Given the description of an element on the screen output the (x, y) to click on. 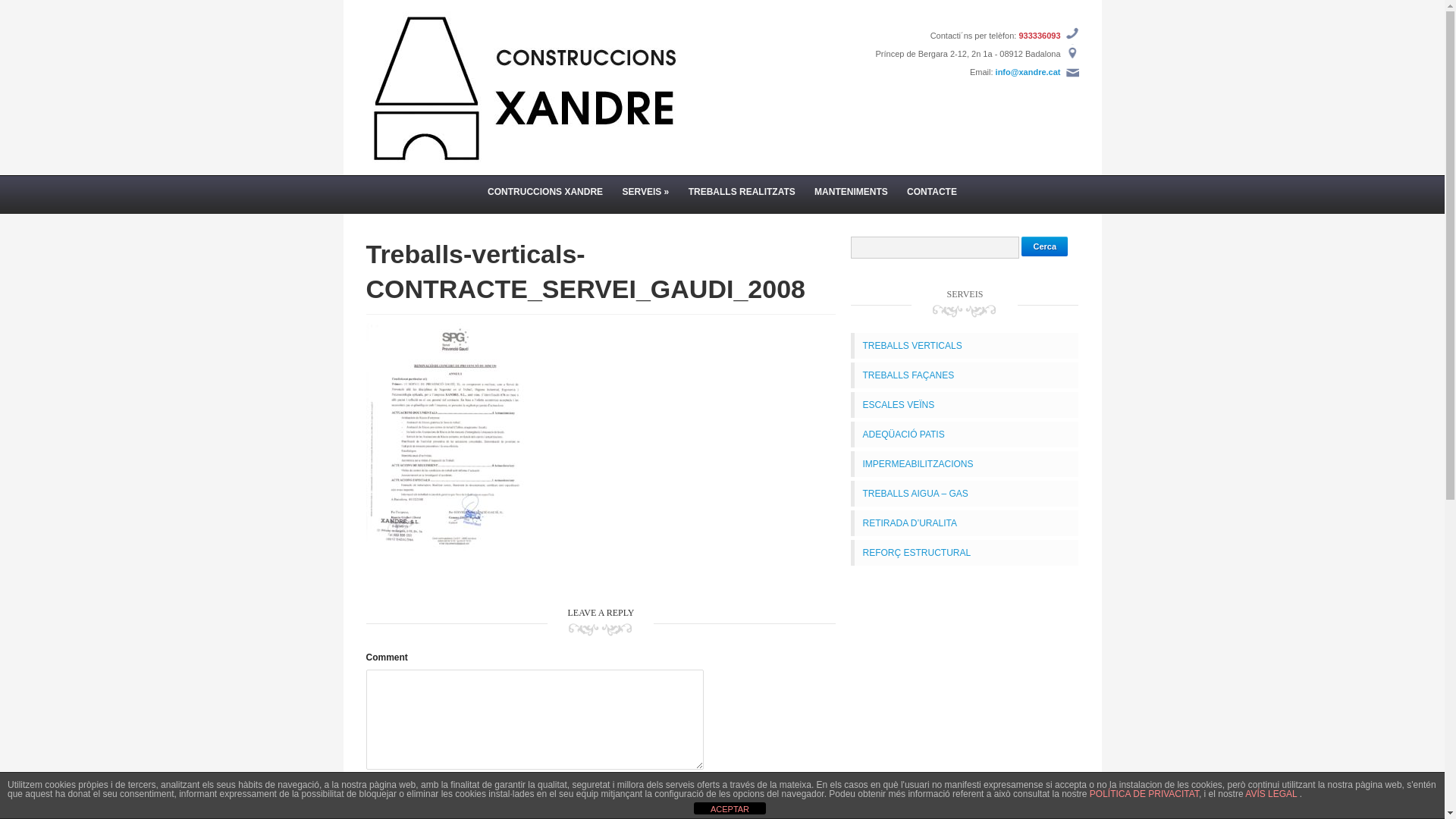
info@xandre.cat Element type: text (1027, 71)
TREBALLS VERTICALS Element type: text (911, 345)
TREBALLS REALITZATS Element type: text (742, 191)
CONTACTE Element type: text (931, 191)
ACEPTAR Element type: text (729, 808)
CONTRUCCIONS XANDRE Element type: text (545, 191)
IMPERMEABILITZACIONS Element type: text (917, 463)
Cerca Element type: text (1044, 246)
MANTENIMENTS Element type: text (850, 191)
